Given the description of an element on the screen output the (x, y) to click on. 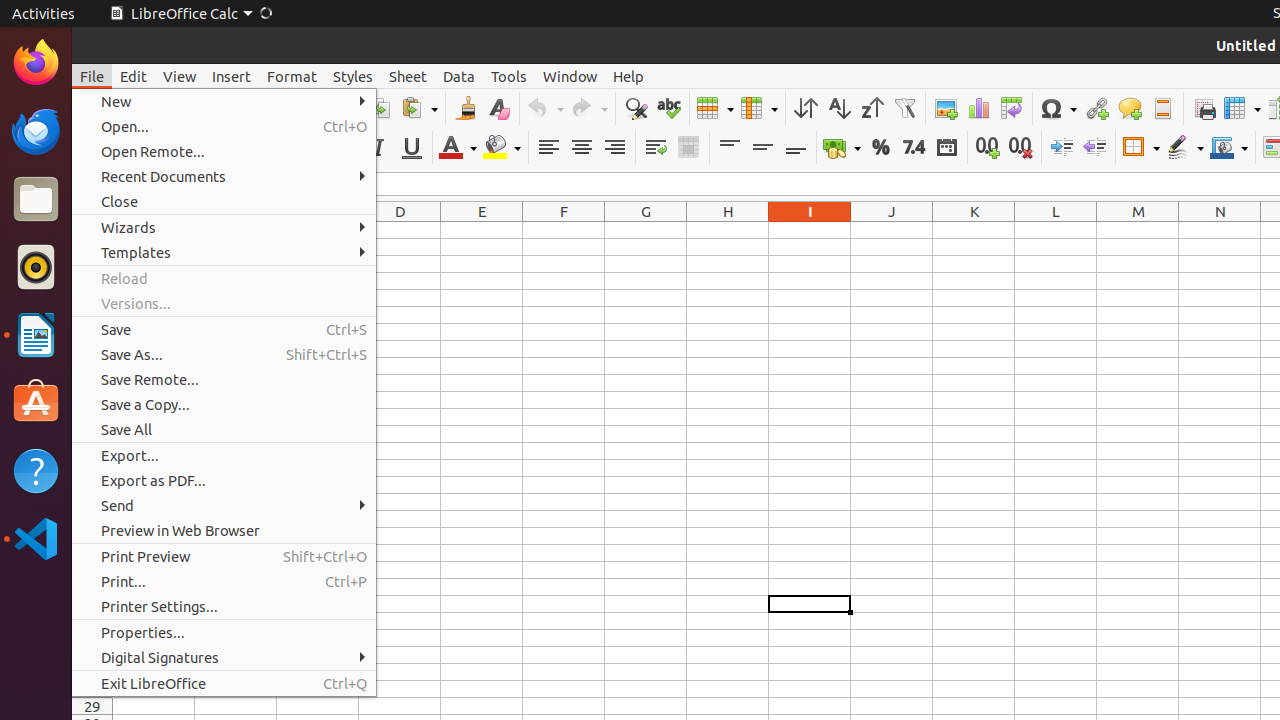
Delete Decimal Place Element type: push-button (1020, 147)
G1 Element type: table-cell (646, 230)
Underline Element type: push-button (411, 147)
Decrease Element type: push-button (1094, 147)
Row Element type: push-button (715, 108)
